Given the description of an element on the screen output the (x, y) to click on. 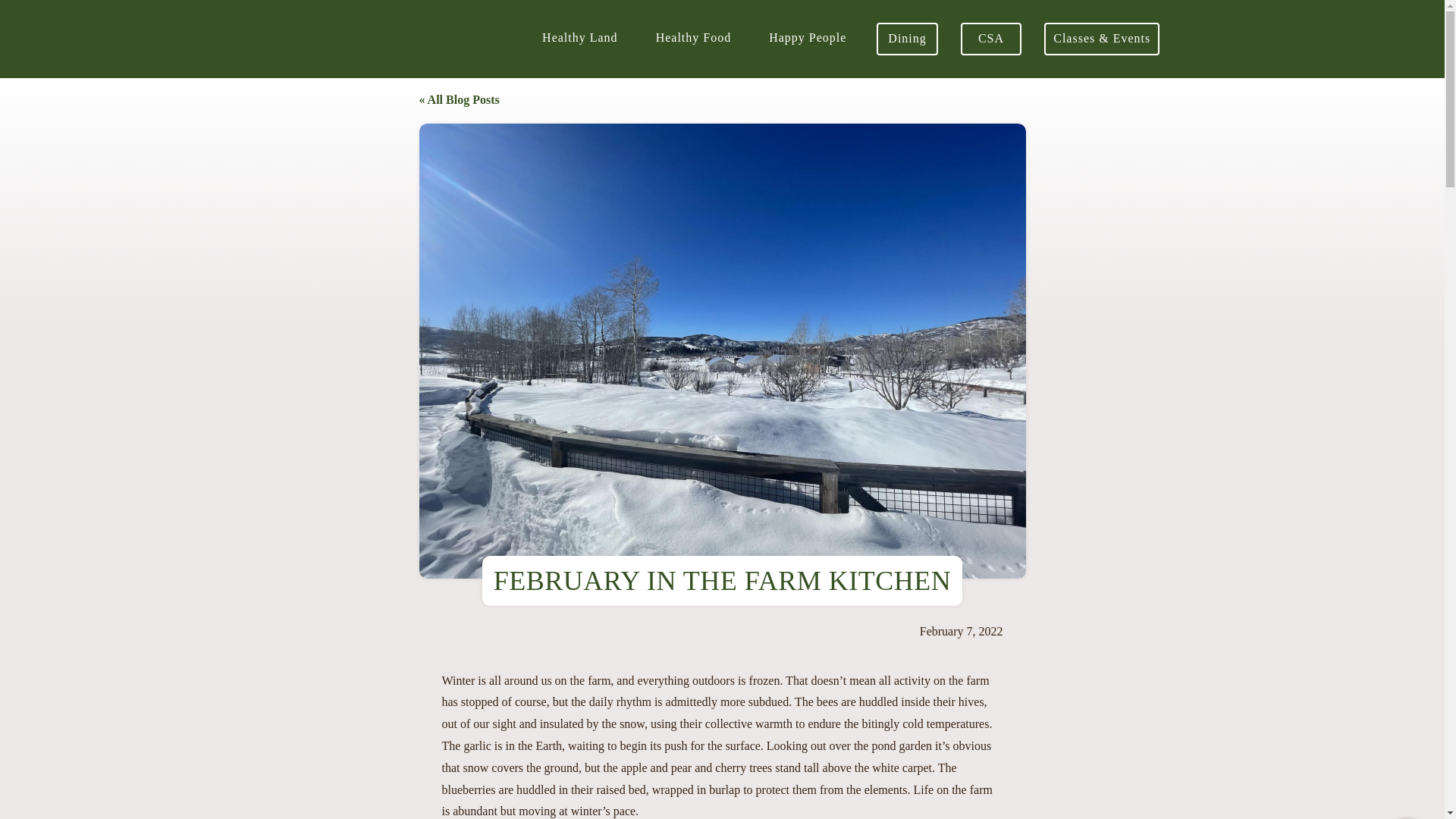
Dining (906, 39)
Healthy Food (693, 38)
CSA (991, 39)
Healthy Land (580, 38)
Happy People (807, 38)
